Given the description of an element on the screen output the (x, y) to click on. 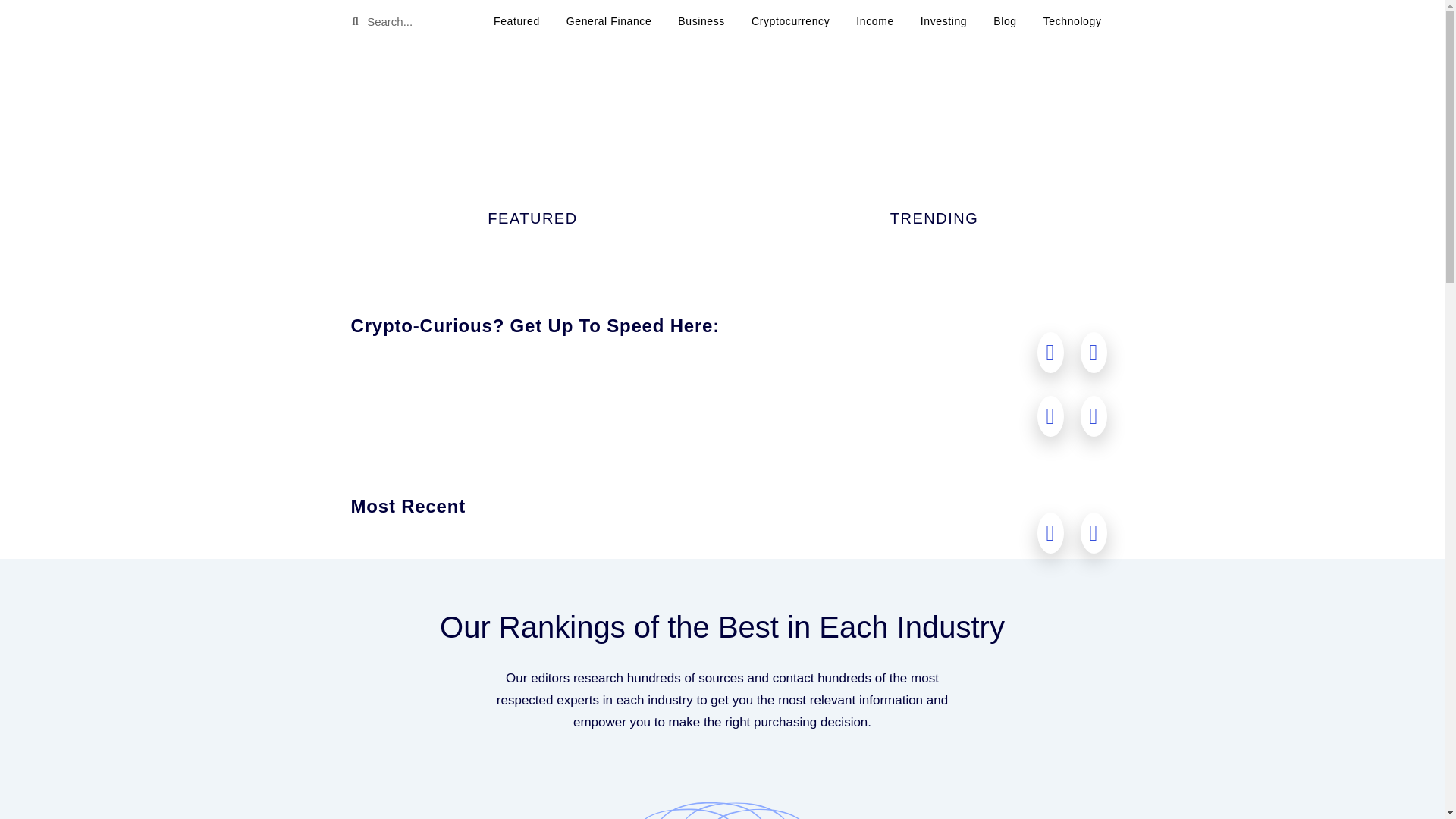
Featured (516, 21)
Investing (943, 21)
General Finance (609, 21)
Income (874, 21)
Technology (1072, 21)
Cryptocurrency (790, 21)
Business (701, 21)
Search (422, 20)
